Given the description of an element on the screen output the (x, y) to click on. 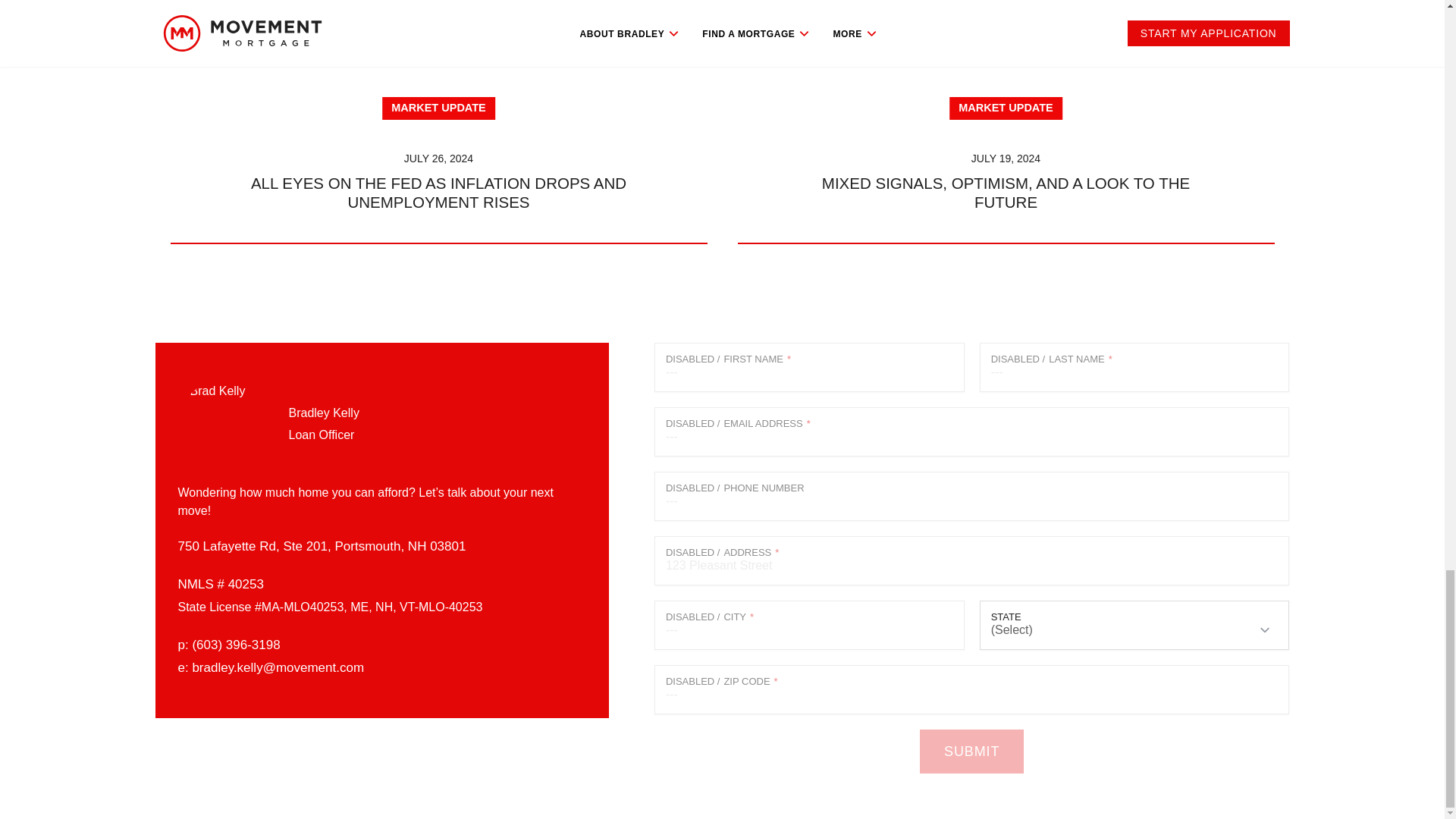
Submit (971, 751)
